Given the description of an element on the screen output the (x, y) to click on. 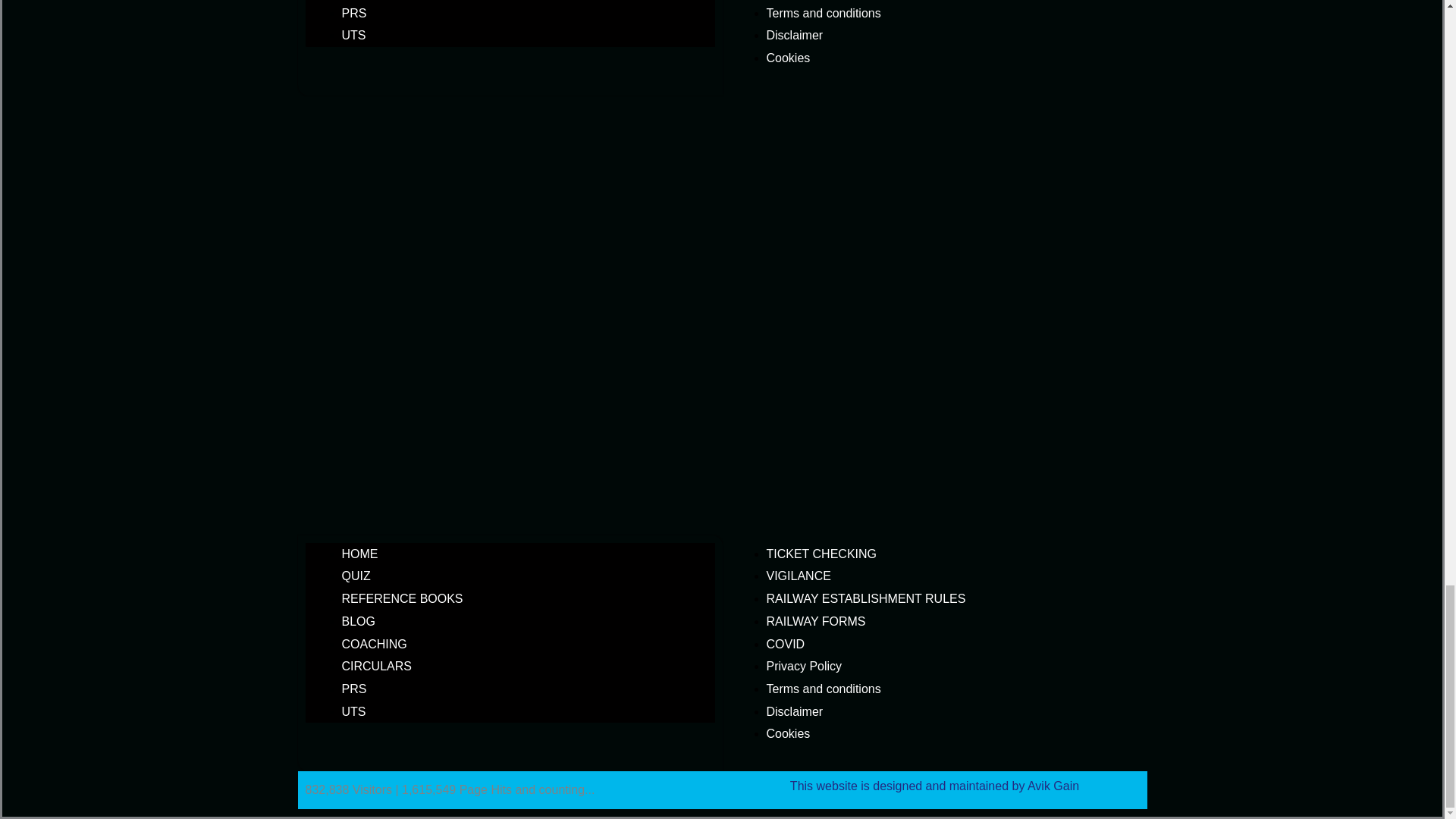
Terms and conditions (822, 12)
HOME (358, 553)
Cookies (787, 57)
Disclaimer (793, 34)
PRS (353, 12)
UTS (352, 34)
